Given the description of an element on the screen output the (x, y) to click on. 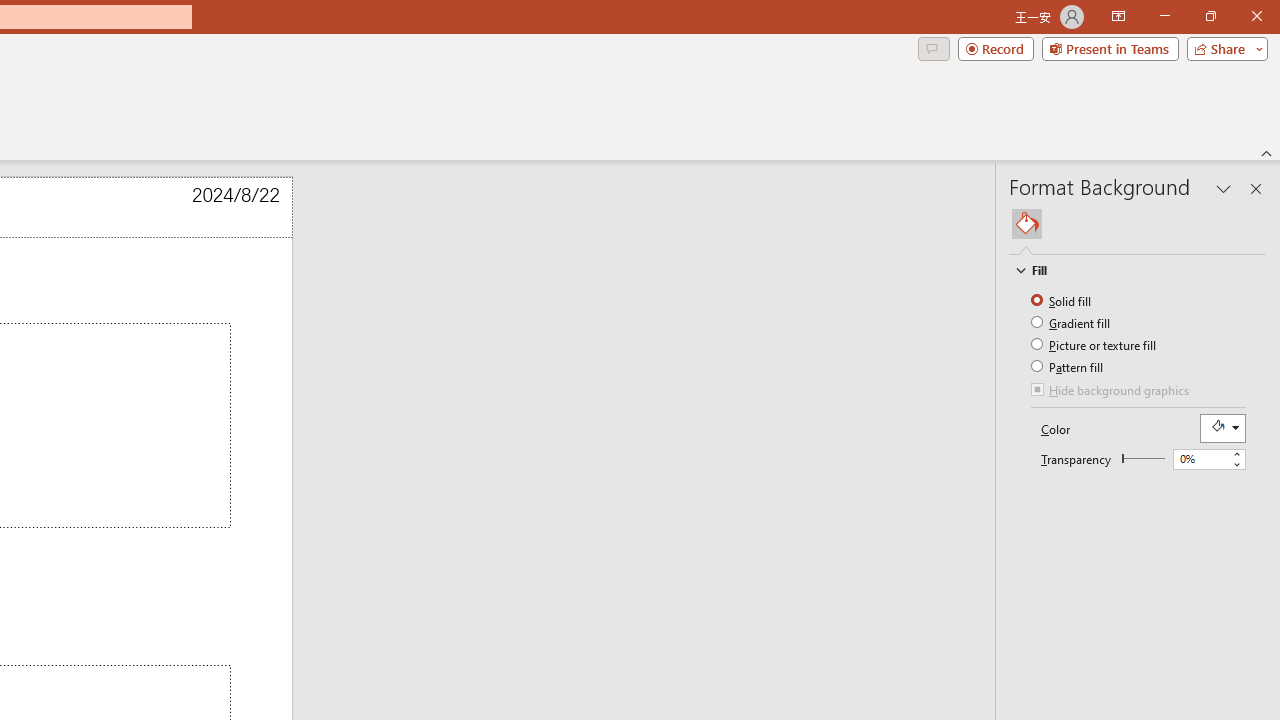
Class: NetUIGalleryContainer (1138, 223)
Transparency (1200, 459)
Gradient fill (1071, 322)
Fill (1027, 223)
Solid fill (1062, 300)
Fill (1128, 269)
Picture or texture fill (1094, 344)
